Given the description of an element on the screen output the (x, y) to click on. 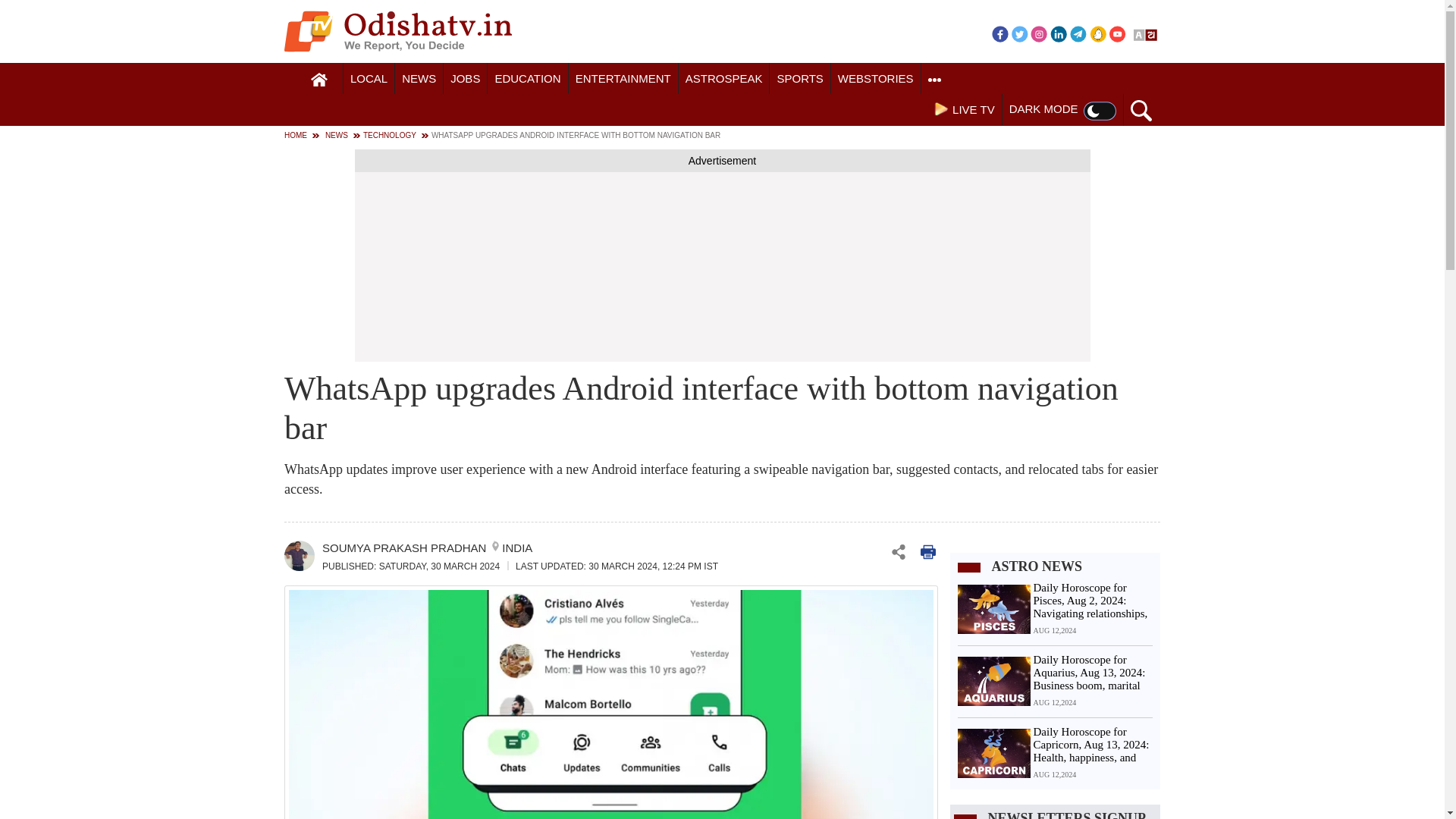
JOBS (465, 78)
Telegram (1078, 33)
EDUCATION (527, 78)
LinkedIn (1058, 33)
Koo (1097, 33)
Odisha (368, 78)
NEWS (418, 78)
Instagram (1038, 33)
Home Icon (319, 79)
ENTERTAINMENT (623, 78)
